Given the description of an element on the screen output the (x, y) to click on. 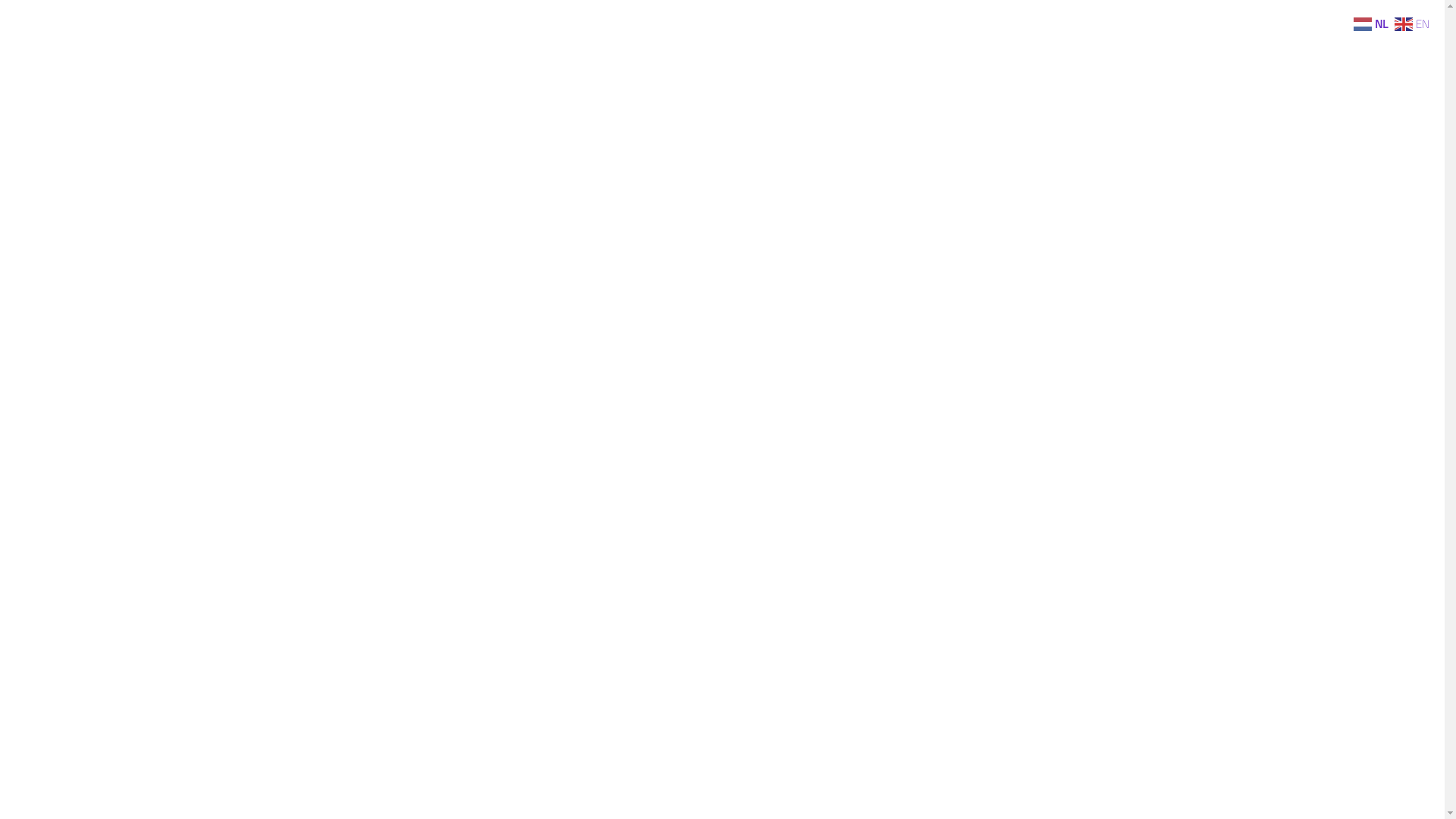
NL Element type: text (1372, 22)
EN Element type: text (1413, 22)
